Given the description of an element on the screen output the (x, y) to click on. 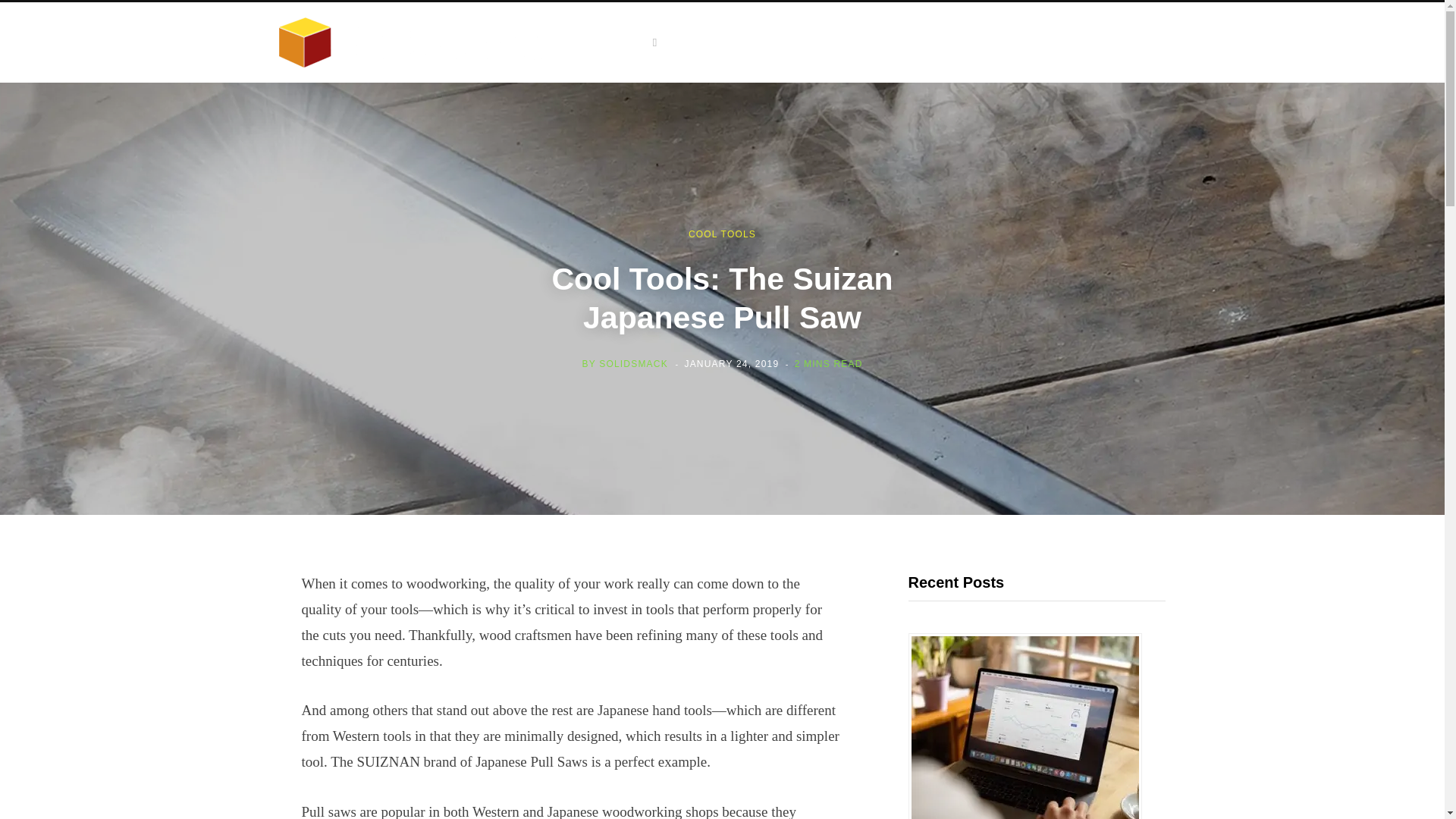
Posts by SolidSmack (633, 362)
COOL TOOLS (721, 234)
TOPICS (630, 41)
SolidSmack (423, 42)
SOLIDSMACK (633, 362)
